Given the description of an element on the screen output the (x, y) to click on. 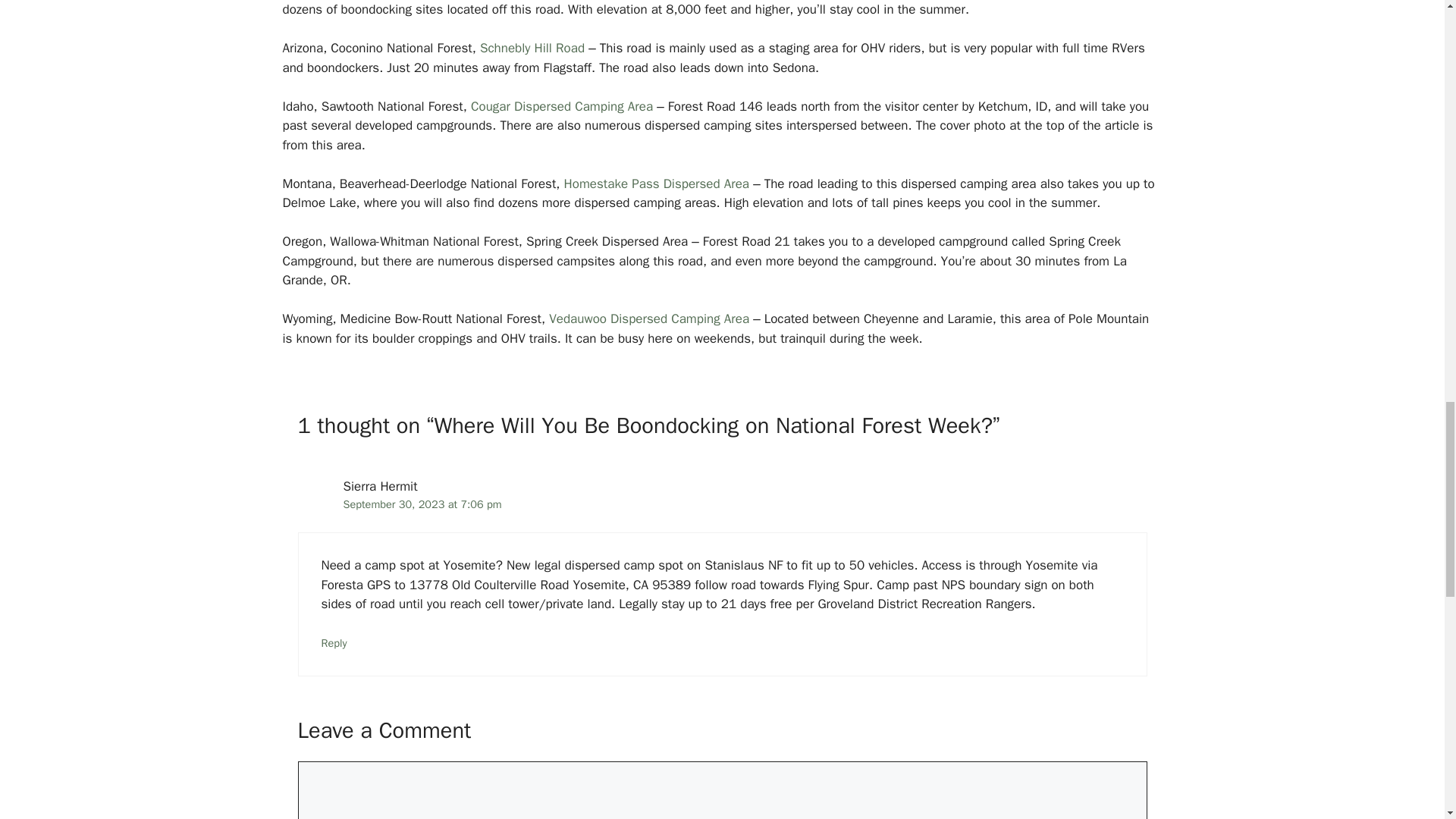
Homestake Pass Dispersed Area (656, 183)
Reply (334, 643)
Cougar Dispersed Camping Area (561, 106)
September 30, 2023 at 7:06 pm (421, 504)
Schnebly Hill Road (532, 48)
Vedauwoo Dispersed Camping Area (648, 318)
